Given the description of an element on the screen output the (x, y) to click on. 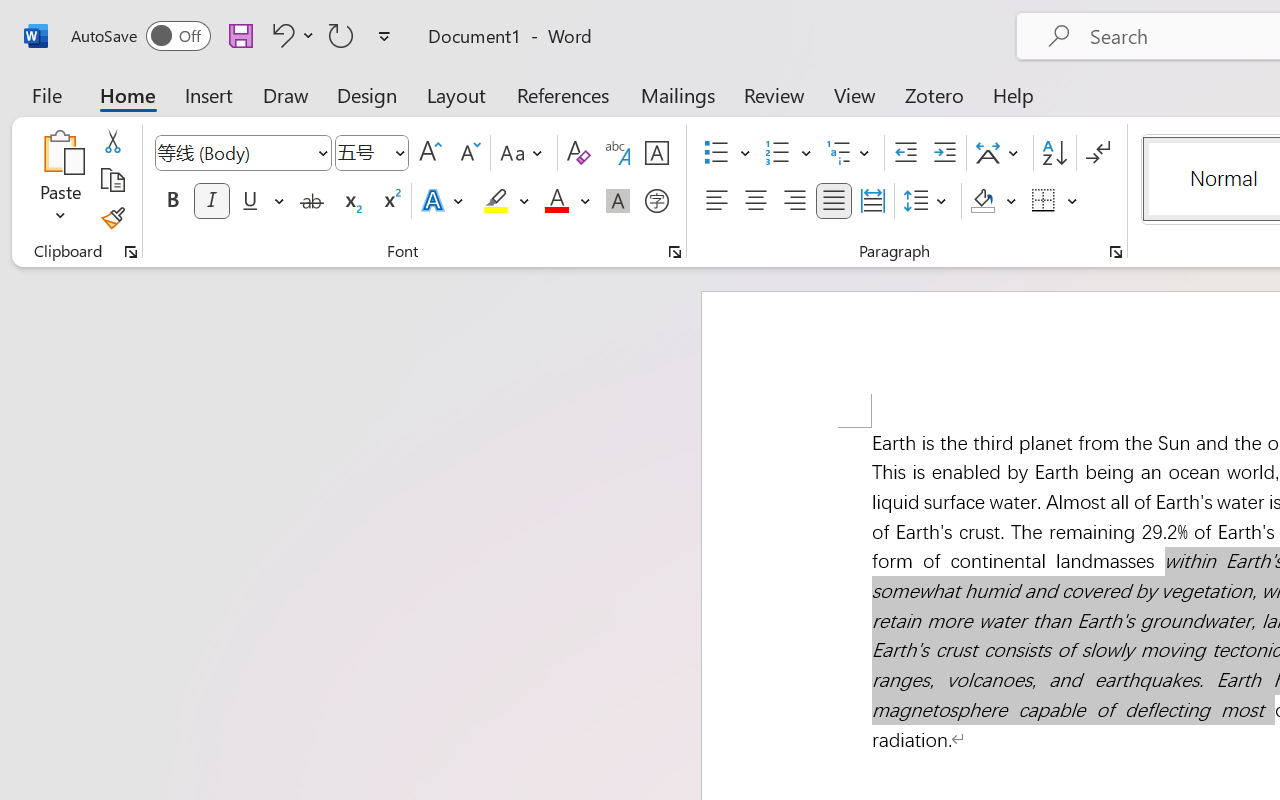
Undo Italic (280, 35)
Center (756, 201)
Undo Italic (290, 35)
Shading RGB(0, 0, 0) (982, 201)
Text Effects and Typography (444, 201)
Help (1013, 94)
Font Color (567, 201)
Phonetic Guide... (618, 153)
